Given the description of an element on the screen output the (x, y) to click on. 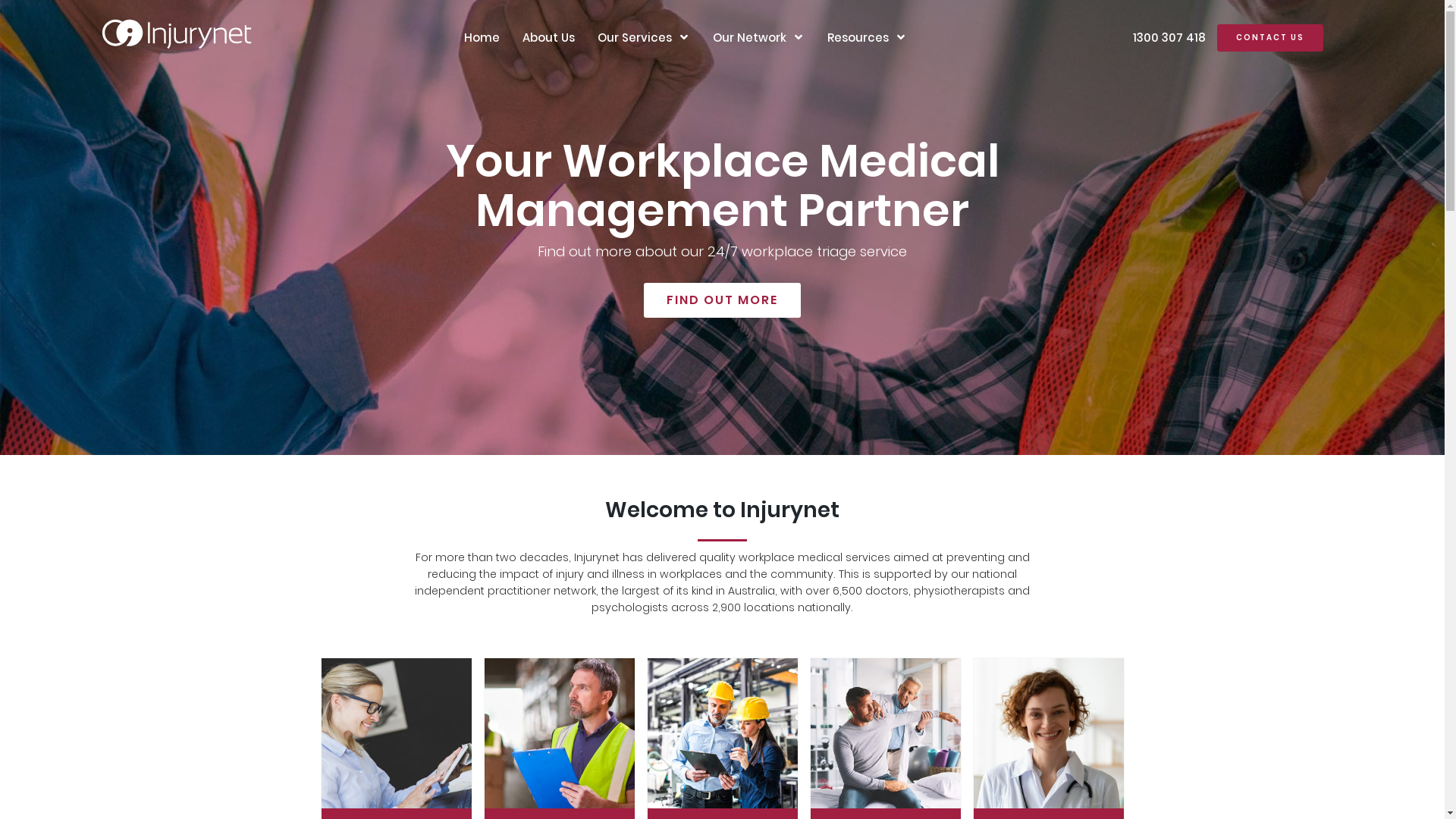
Fitness For Duty Assessment Element type: hover (558, 733)
1300 307 418 Element type: text (1168, 37)
CONTACT US Element type: text (1270, 37)
Home Element type: text (481, 37)
Our Network Element type: text (749, 37)
Health Surveillance Element type: hover (1048, 733)
Our Services Element type: text (634, 37)
FIND OUT MORE Element type: text (721, 299)
Medical Advisory Services Element type: hover (722, 733)
About Us Element type: text (548, 37)
Injury Management Services Element type: hover (884, 733)
Resources Element type: text (857, 37)
Medical Assessments and Services Element type: hover (396, 733)
